Given the description of an element on the screen output the (x, y) to click on. 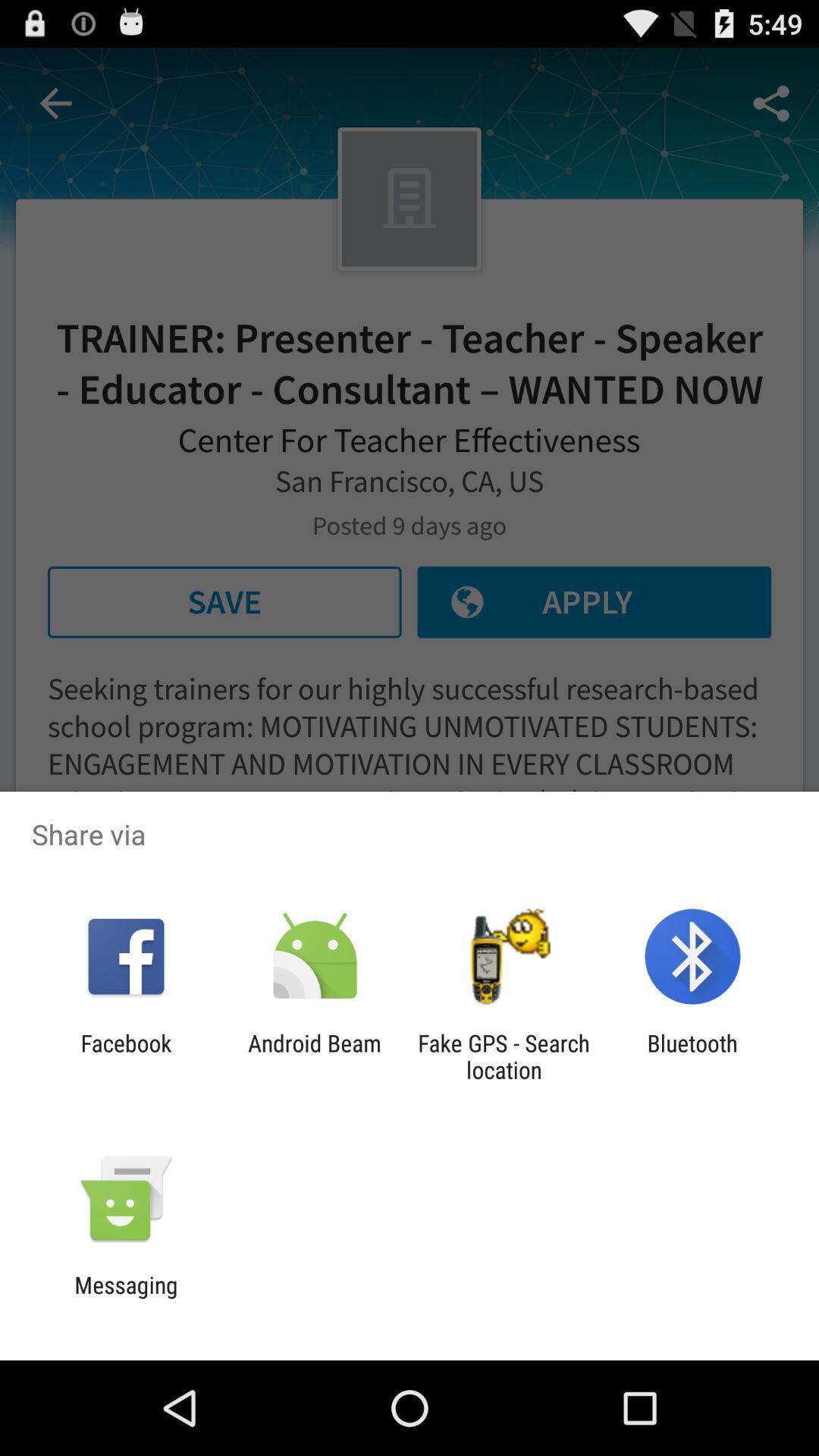
turn on fake gps search item (503, 1056)
